Given the description of an element on the screen output the (x, y) to click on. 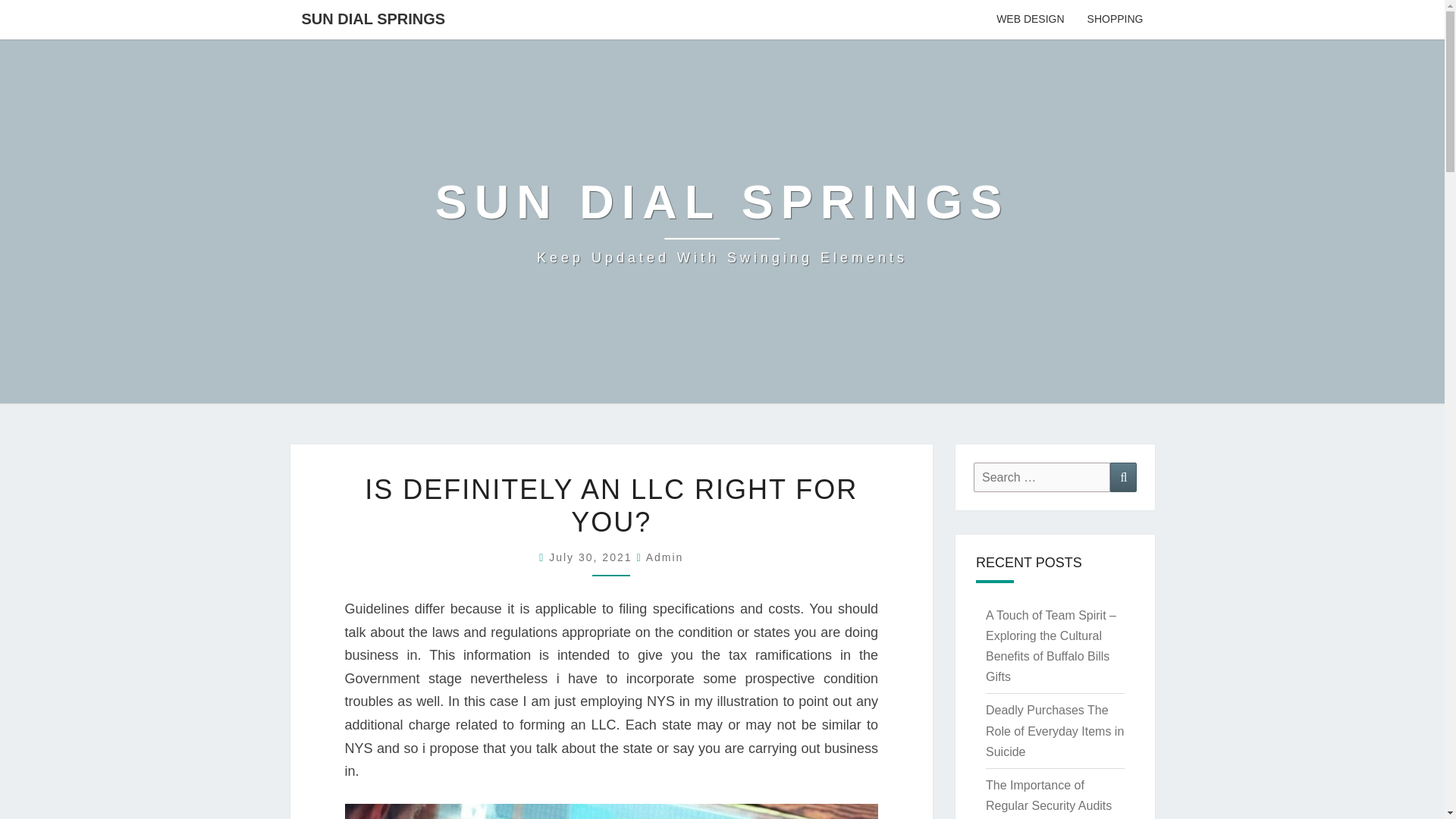
Deadly Purchases The Role of Everyday Items in Suicide (1054, 730)
Search (1123, 477)
Sun Dial Springs (722, 221)
SHOPPING (1114, 19)
WEB DESIGN (1030, 19)
Search for: (1041, 477)
Admin (665, 557)
July 30, 2021 (592, 557)
View all posts by admin (665, 557)
SUN DIAL SPRINGS (722, 221)
6:16 am (373, 18)
